Given the description of an element on the screen output the (x, y) to click on. 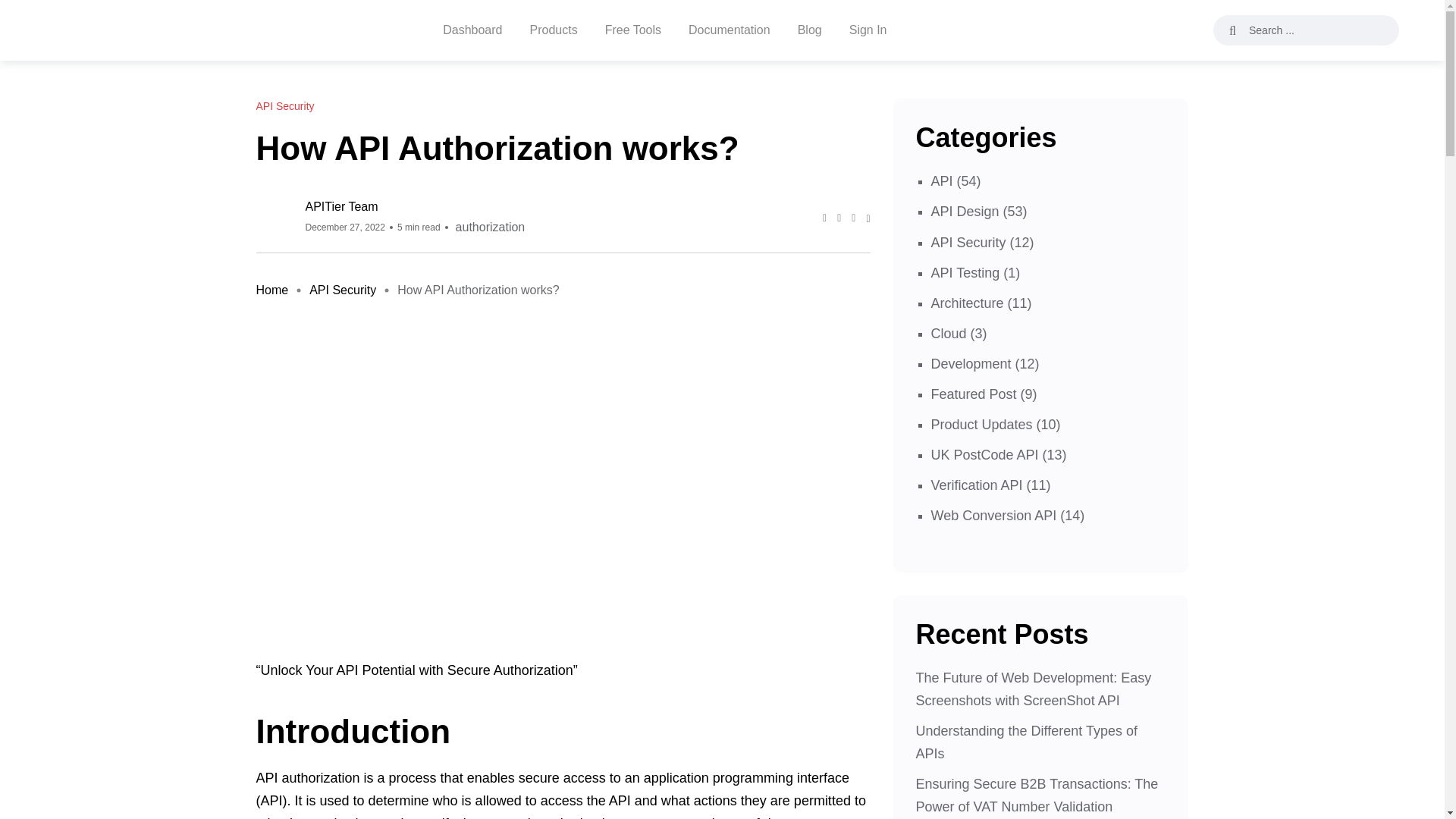
authorization (490, 226)
How API Authorization works? (478, 289)
APITier Blog (72, 30)
APITier Team (415, 206)
Free Tools (633, 30)
Home (272, 289)
Documentation (729, 30)
API Security (285, 105)
API (942, 181)
Home (272, 289)
